Given the description of an element on the screen output the (x, y) to click on. 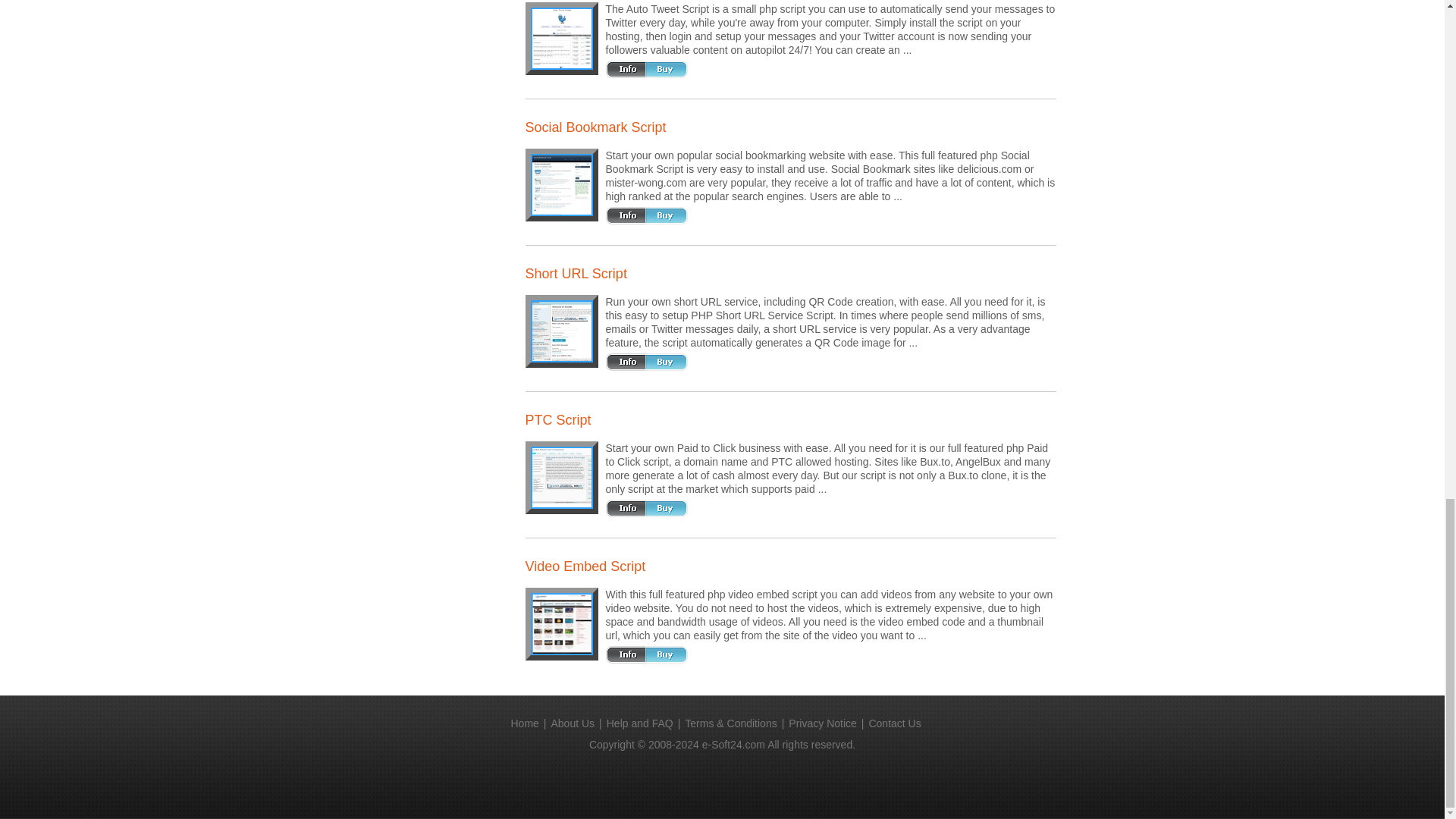
PTC Script (561, 476)
Short URL Script (561, 331)
Auto Tweet Script (561, 38)
Social Bookmark Script (561, 184)
Video Embed Script (561, 623)
